Given the description of an element on the screen output the (x, y) to click on. 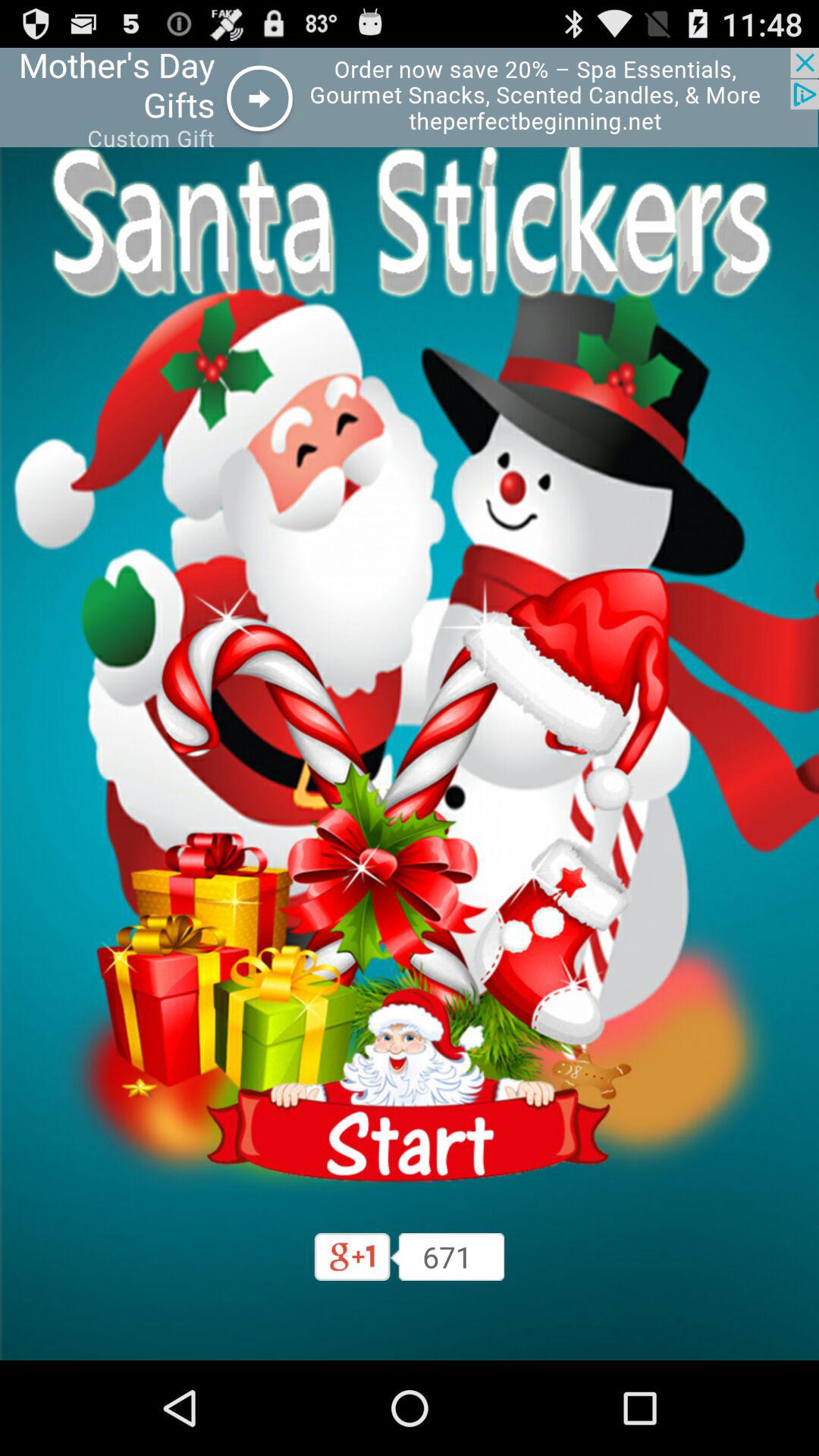
advertisement area (409, 97)
